Given the description of an element on the screen output the (x, y) to click on. 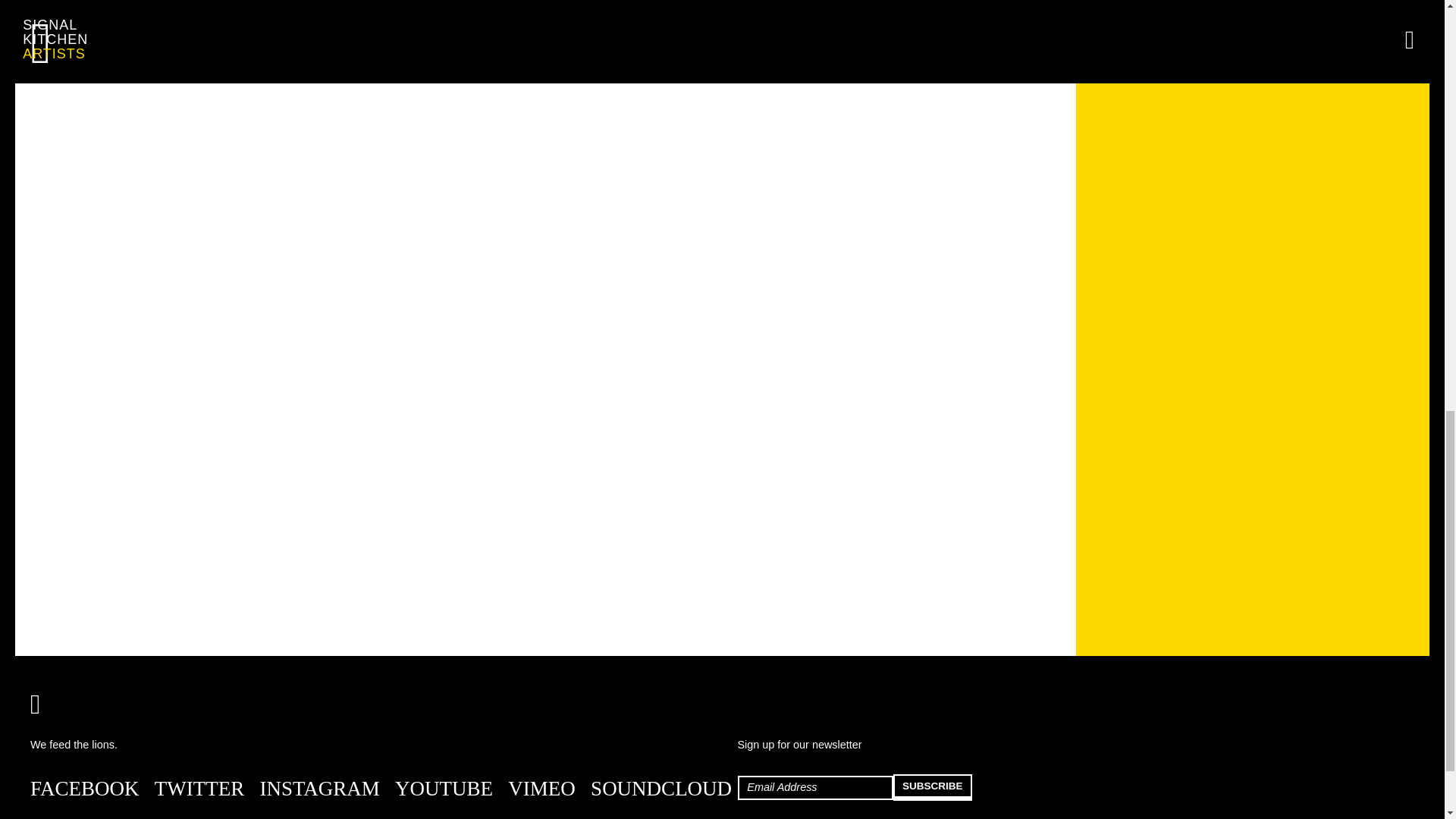
TWITTER (199, 788)
YOUTUBE (443, 788)
Subscribe (932, 786)
VIMEO (541, 788)
INSTAGRAM (318, 788)
SOUNDCLOUD (661, 788)
FACEBOOK (84, 788)
Subscribe (932, 786)
